Given the description of an element on the screen output the (x, y) to click on. 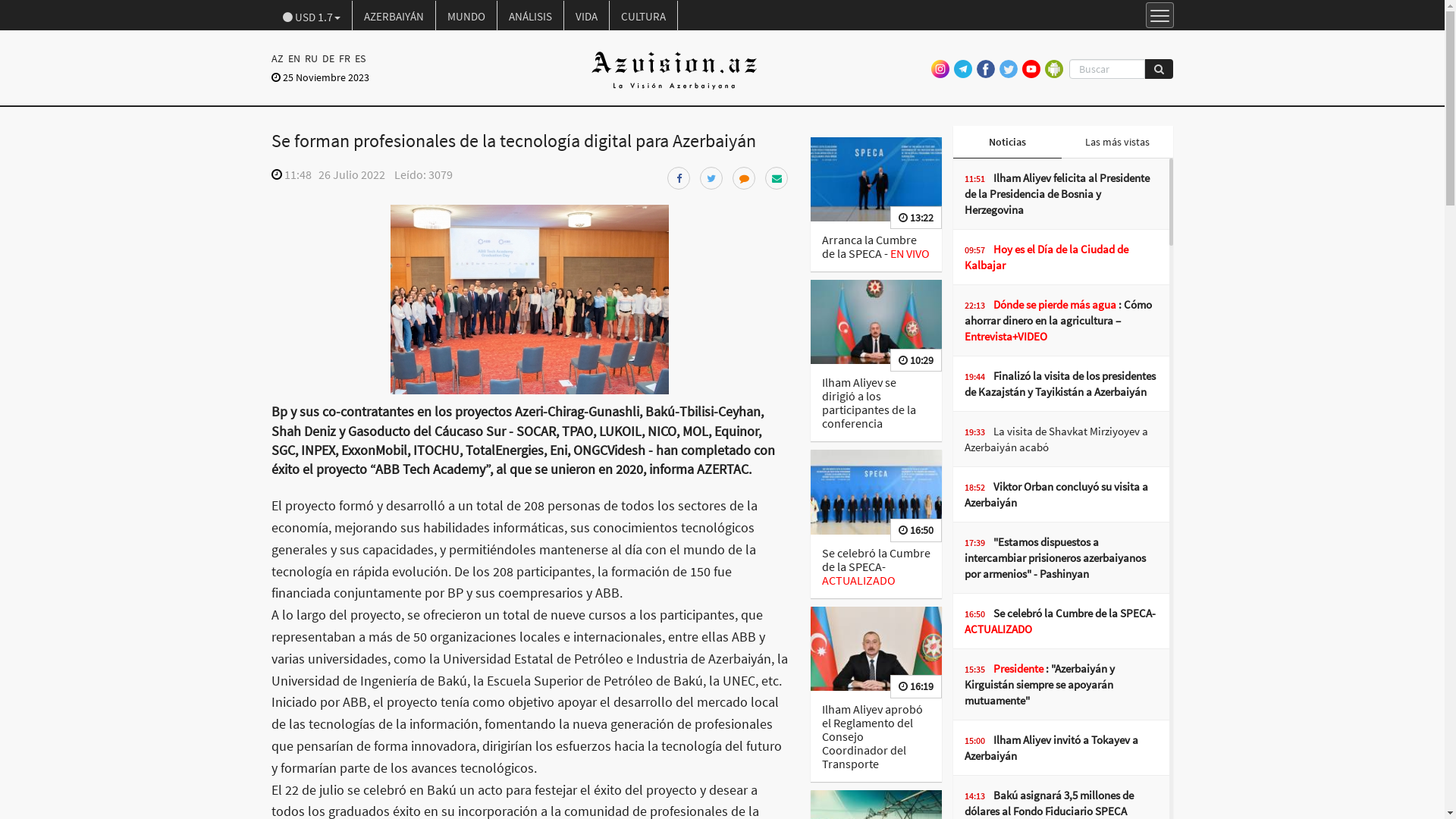
CULTURA Element type: text (643, 15)
EN Element type: text (293, 58)
RU Element type: text (310, 58)
VIDA Element type: text (586, 15)
FR Element type: text (344, 58)
ES Element type: text (359, 58)
Debe tener al menos 3 letras Element type: hover (1107, 68)
Noticias Element type: text (1007, 141)
USD 1.7 Element type: text (311, 15)
DE Element type: text (328, 58)
MUNDO Element type: text (465, 15)
13:22
Arranca la Cumbre de la SPECA - EN VIVO Element type: text (875, 204)
AZ Element type: text (278, 58)
